Given the description of an element on the screen output the (x, y) to click on. 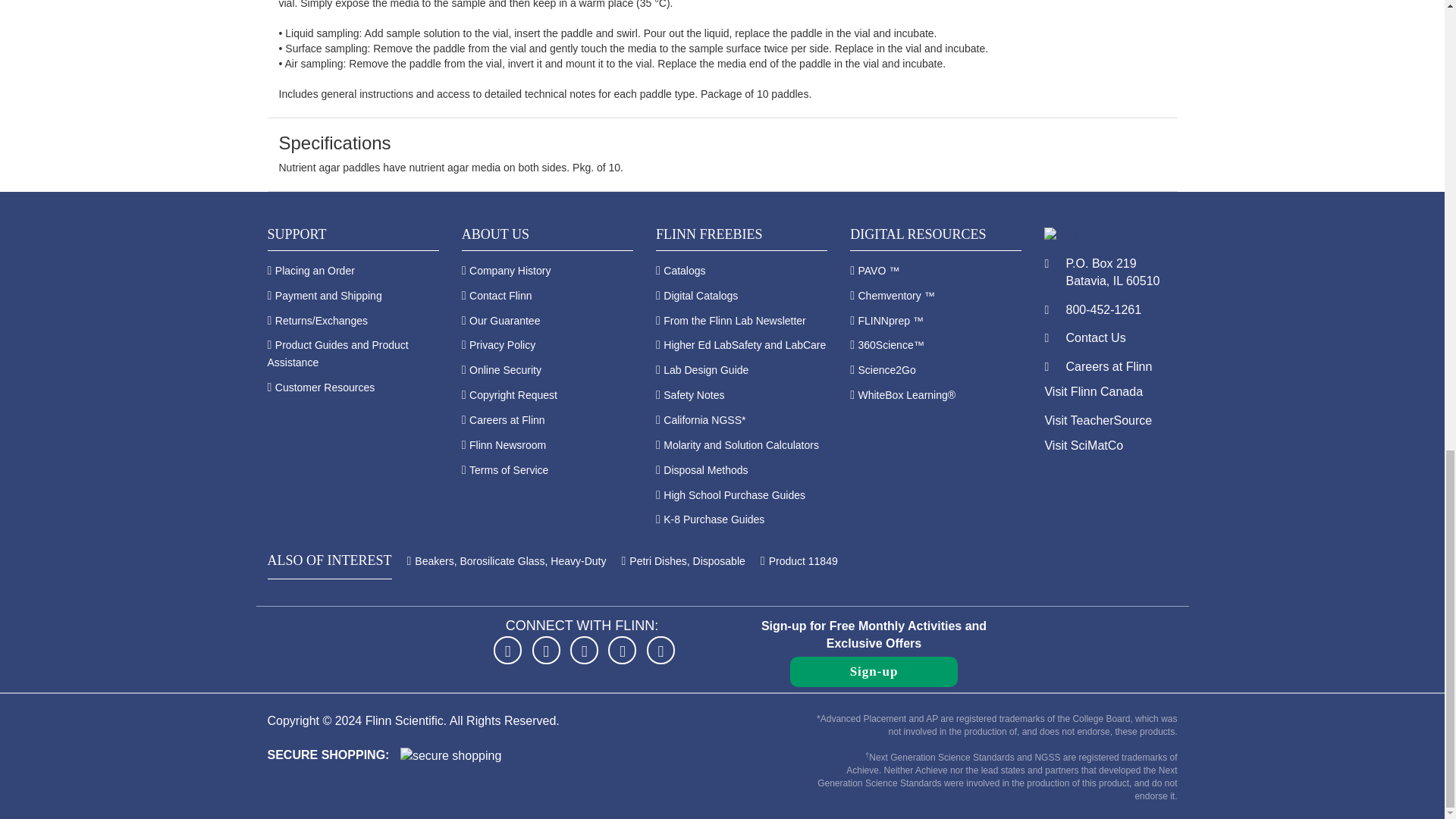
Flinn Newsroom (507, 444)
Product Guides and Product Assistance (336, 353)
Terms of Service (508, 469)
Disposal Methods (705, 469)
Higher Ed LabSafety and LabCare (744, 345)
